Given the description of an element on the screen output the (x, y) to click on. 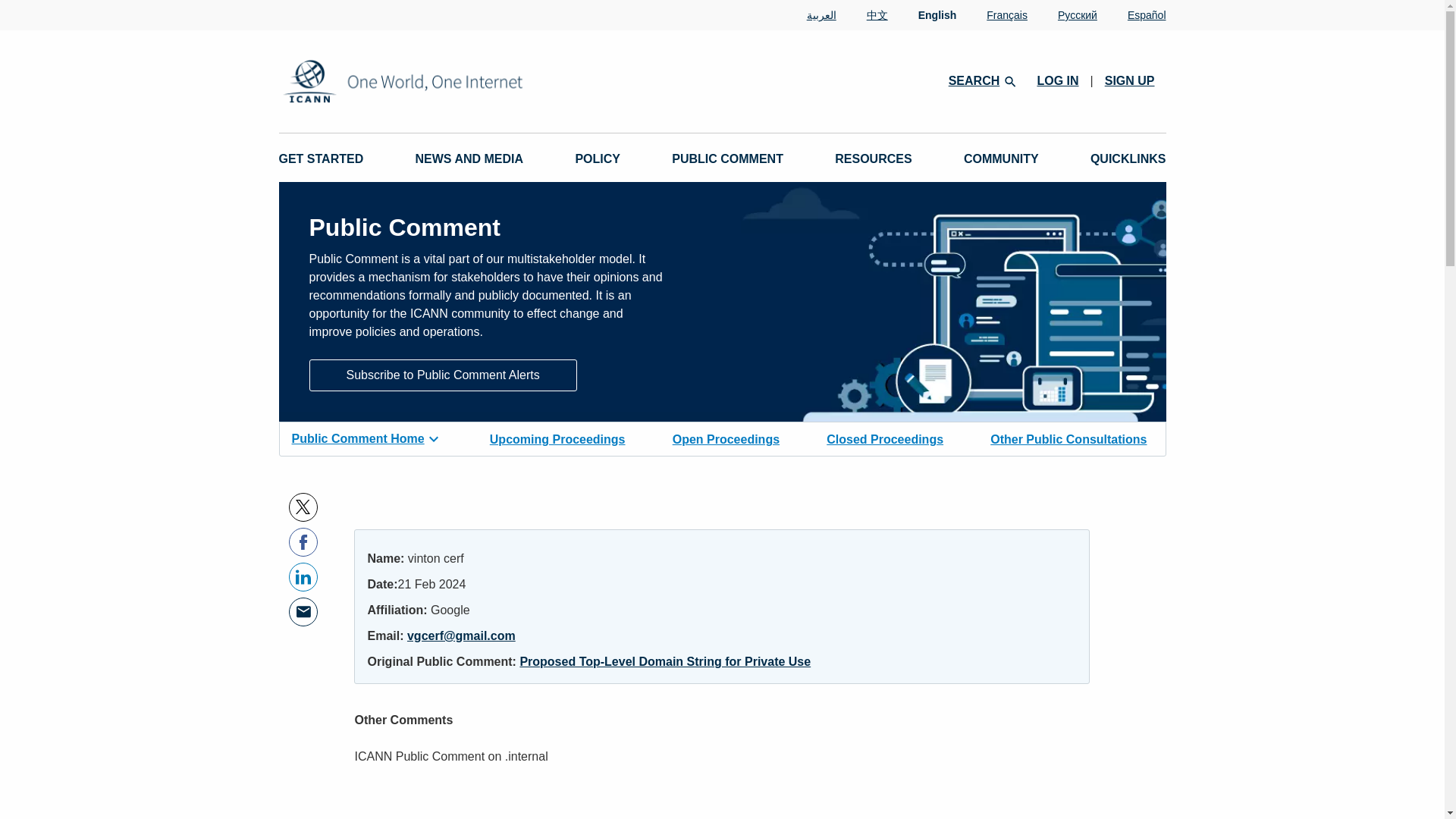
COMMUNITY (1001, 158)
NEWS AND MEDIA (469, 158)
Closed Proceedings (885, 437)
POLICY (597, 158)
Open Proceedings (725, 437)
SIGN UP (1129, 80)
SEARCH (981, 79)
Other Public Consultations (1068, 437)
LOG IN (1057, 81)
Subscribe to Public Comment Alerts (442, 373)
QUICKLINKS (1128, 158)
PUBLIC COMMENT (727, 158)
GET STARTED (321, 158)
Upcoming Proceedings (557, 437)
Subscribe to Public Comment Alerts (442, 375)
